Given the description of an element on the screen output the (x, y) to click on. 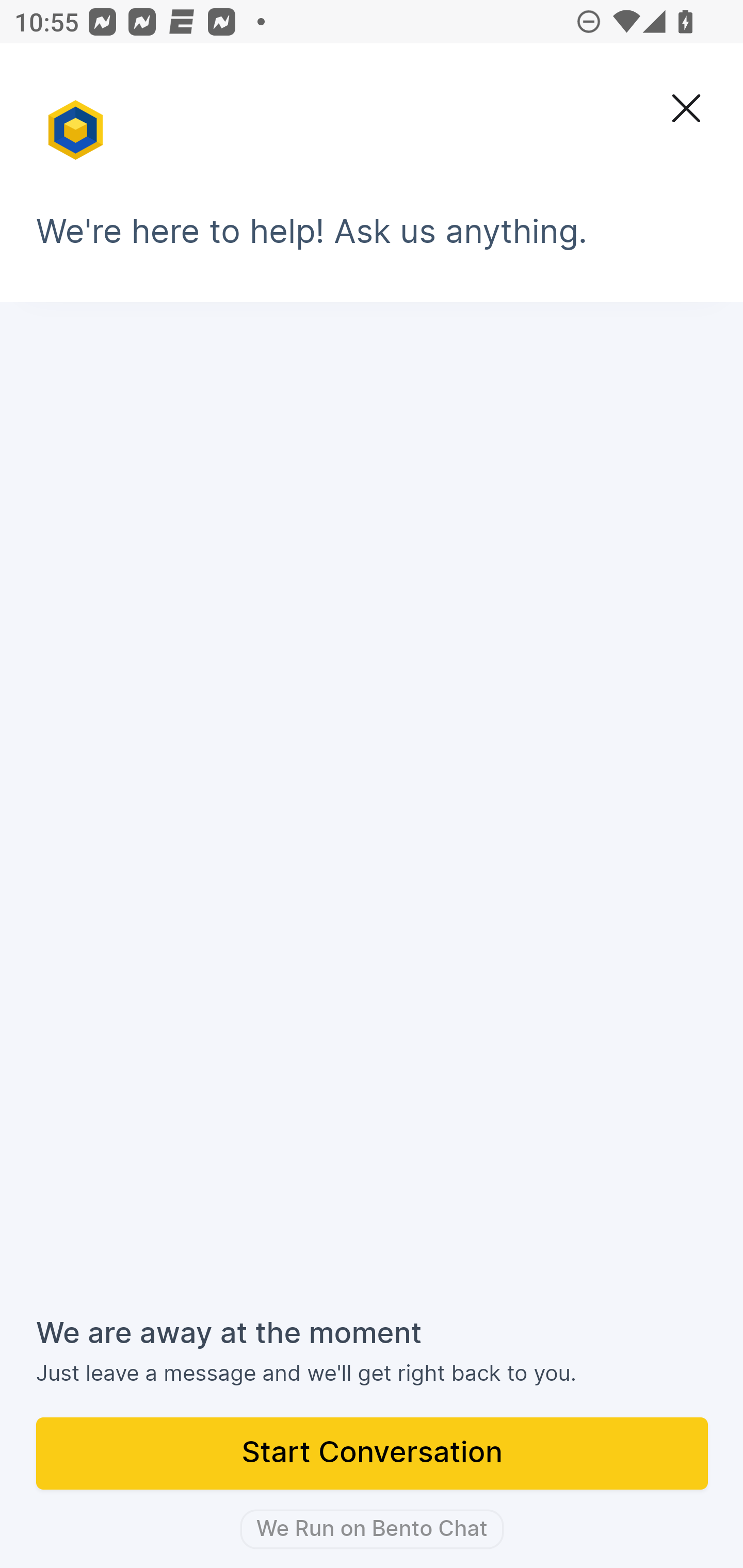
LUMI-ID-Avatar_Transparent-640w (77, 120)
Start Conversation (372, 1454)
We Run on Bento Chat (371, 1529)
